Given the description of an element on the screen output the (x, y) to click on. 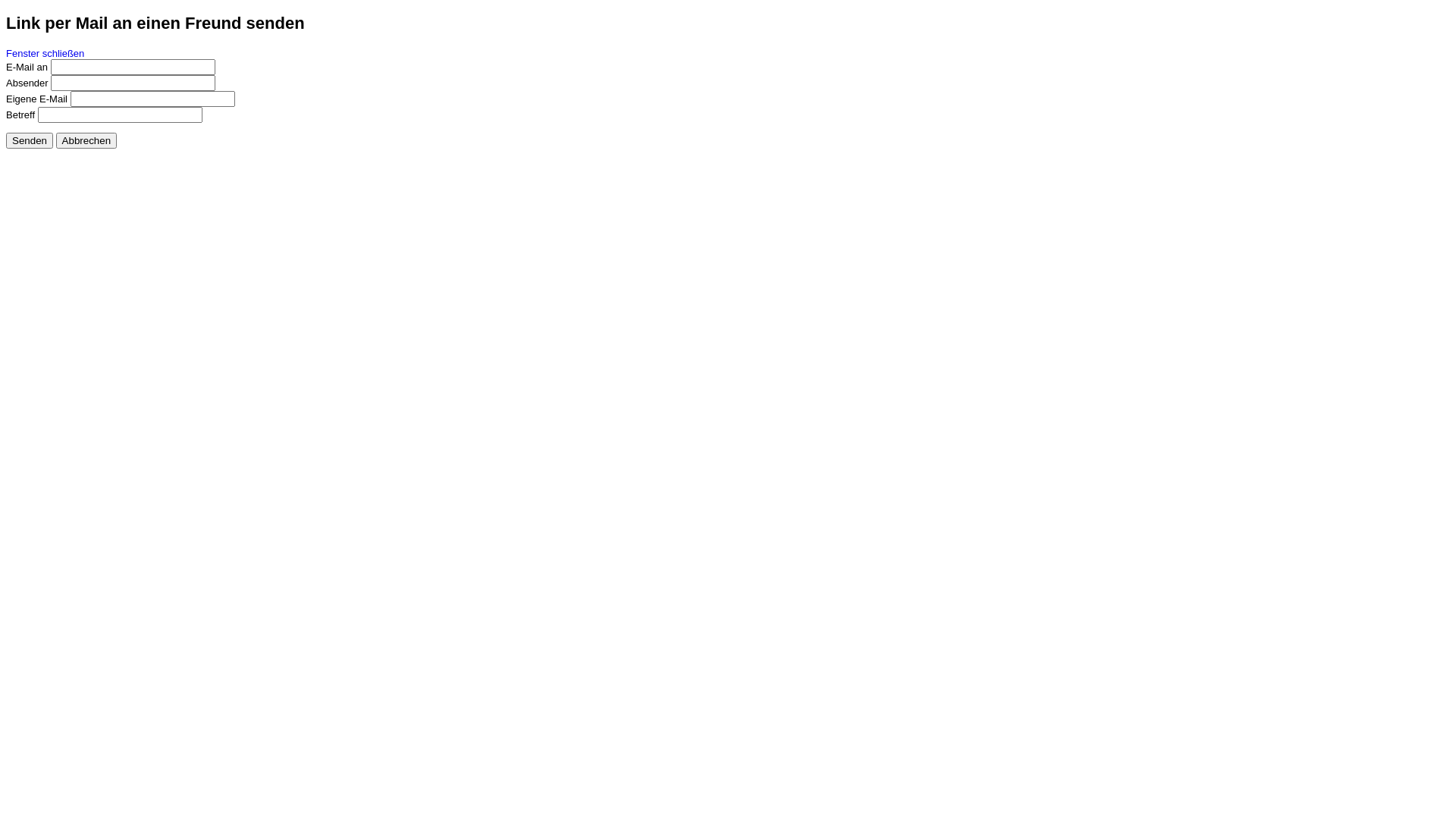
Senden Element type: text (29, 139)
Abbrechen Element type: text (86, 139)
